Given the description of an element on the screen output the (x, y) to click on. 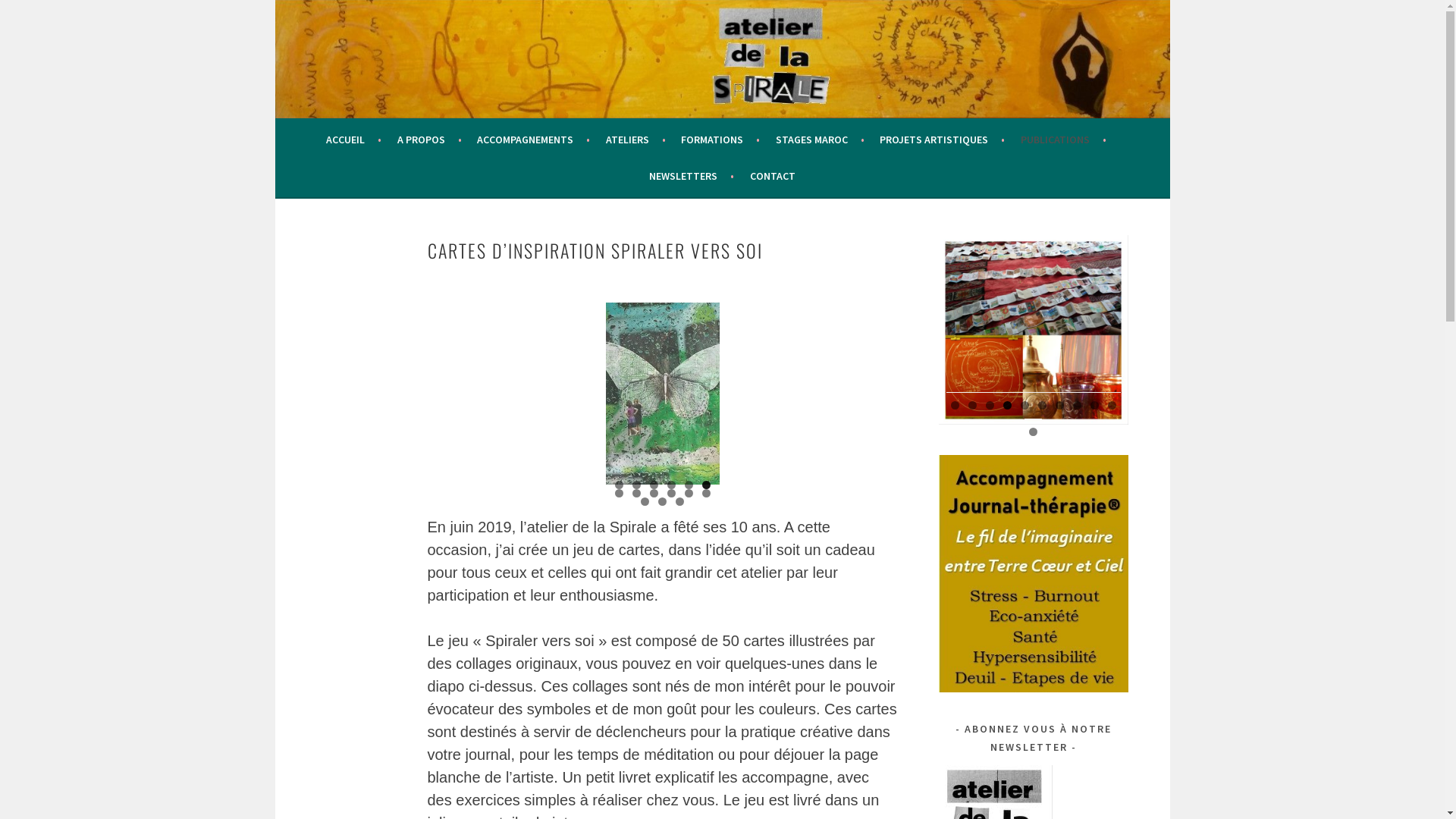
4 Element type: text (671, 484)
A PROPOS Element type: text (429, 139)
6 Element type: text (706, 484)
13 Element type: text (644, 501)
ATELIER DE LA SPIRALE Element type: text (441, 54)
7 Element type: text (1059, 405)
3 Element type: text (653, 484)
page04 Element type: hover (1033, 329)
FORMATIONS Element type: text (719, 139)
9 Element type: text (1094, 405)
4 Element type: text (1006, 405)
1 Element type: text (954, 405)
7 Element type: text (618, 493)
11 Element type: text (688, 493)
8 Element type: text (636, 493)
ATELIERS Element type: text (635, 139)
9 Element type: text (653, 493)
ACCOMPAGNEMENTS Element type: text (532, 139)
1 Element type: text (618, 484)
STAGES MAROC Element type: text (819, 139)
PUBLICATIONS Element type: text (1063, 139)
5 Element type: text (1024, 405)
10 Element type: text (671, 493)
12 Element type: text (706, 493)
PROJETS ARTISTIQUES Element type: text (941, 139)
NEWSLETTERS Element type: text (691, 175)
ACCUEIL Element type: text (353, 139)
3 Element type: text (989, 405)
2 Element type: text (971, 405)
10 Element type: text (1111, 405)
5 Element type: text (688, 484)
8 Element type: text (1076, 405)
CONTACT Element type: text (772, 175)
2 Element type: text (636, 484)
11 Element type: text (1033, 431)
carte 16 Element type: hover (661, 393)
6 Element type: text (1041, 405)
15 Element type: text (679, 501)
14 Element type: text (662, 501)
